Given the description of an element on the screen output the (x, y) to click on. 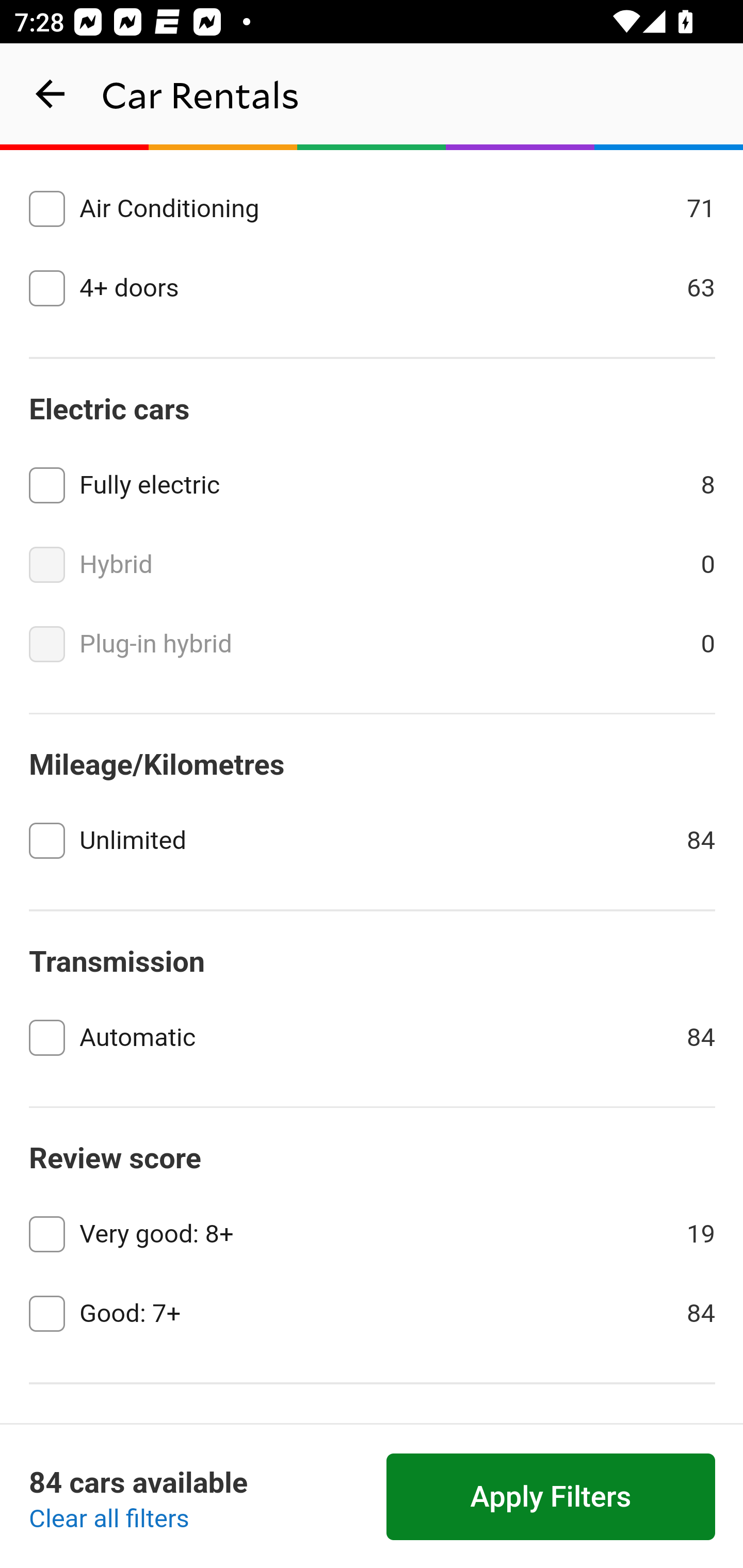
navigation_button (50, 93)
Apply Filters (551, 1497)
Clear all filters (108, 1519)
